Given the description of an element on the screen output the (x, y) to click on. 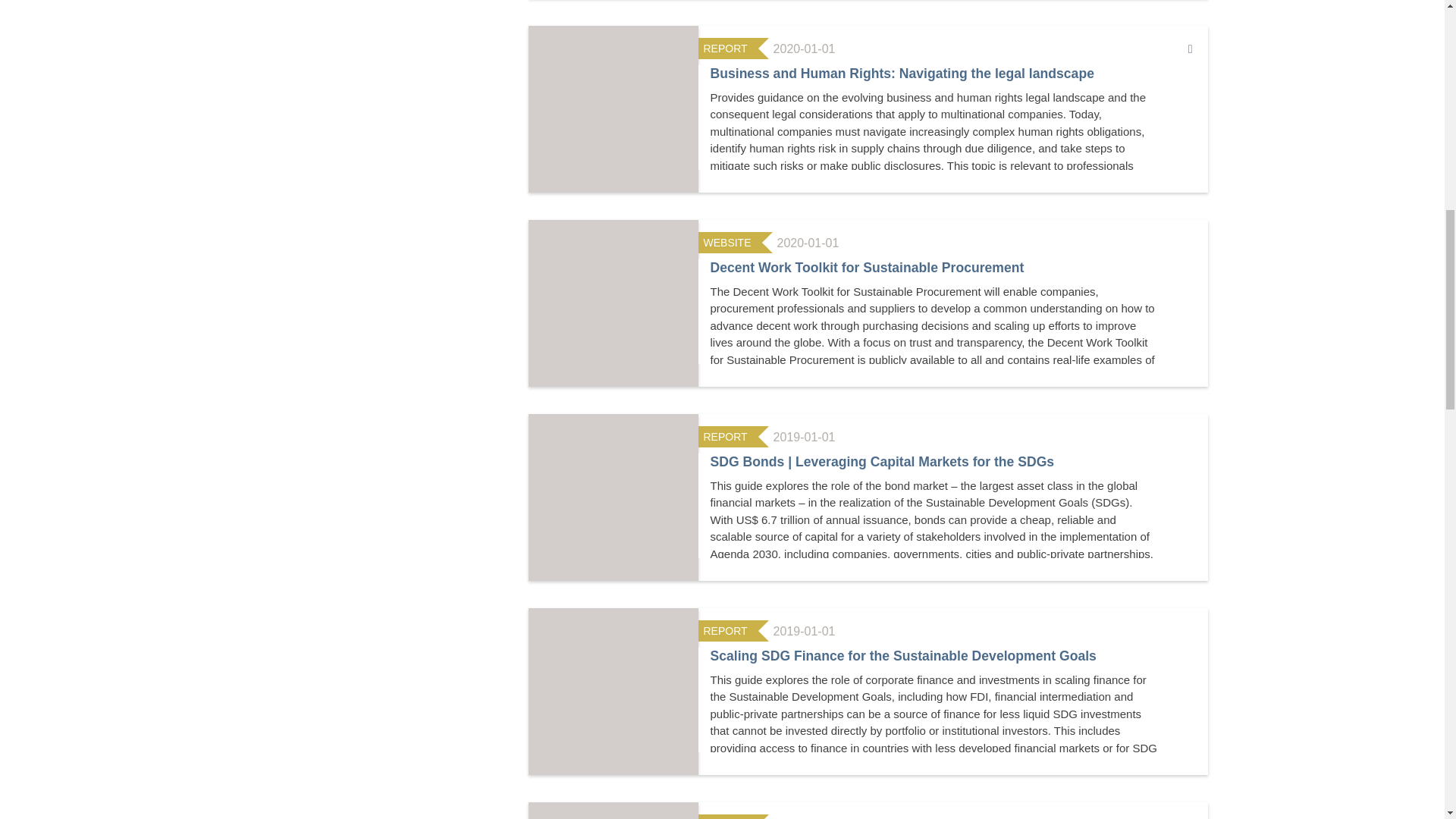
translation missing: en.website (727, 242)
translation missing: en.report (725, 48)
translation missing: en.report (725, 630)
translation missing: en.report (725, 436)
